Given the description of an element on the screen output the (x, y) to click on. 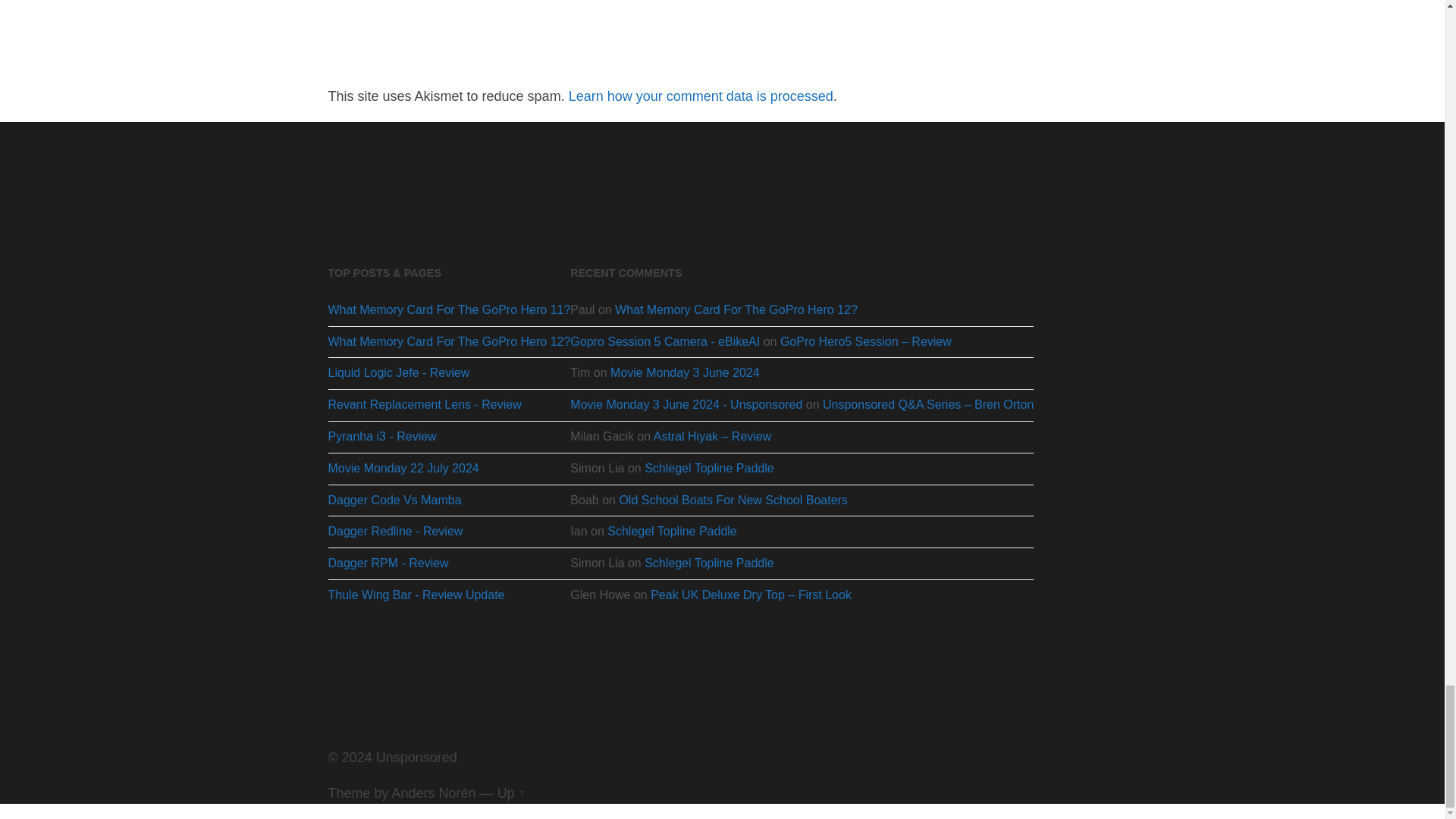
Comment Form (583, 29)
